Given the description of an element on the screen output the (x, y) to click on. 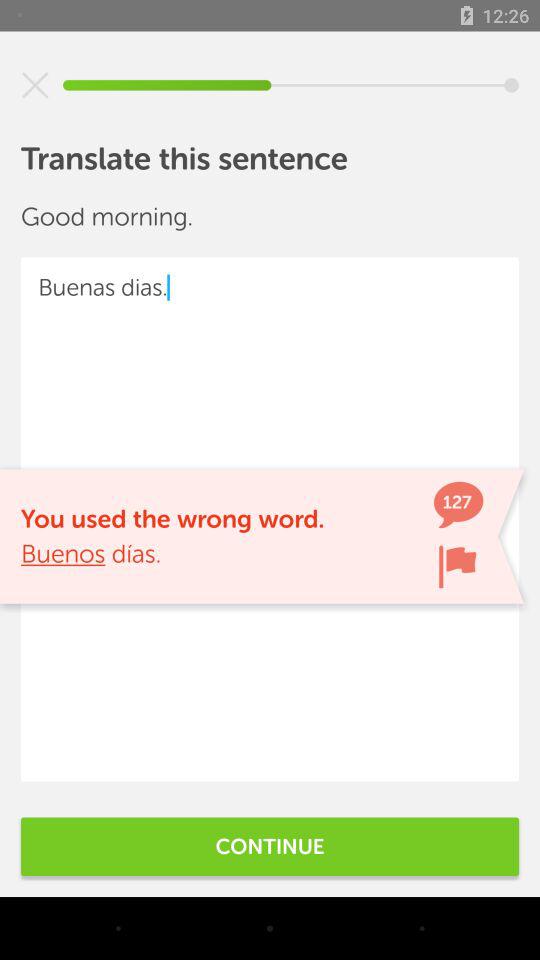
report error (457, 566)
